Given the description of an element on the screen output the (x, y) to click on. 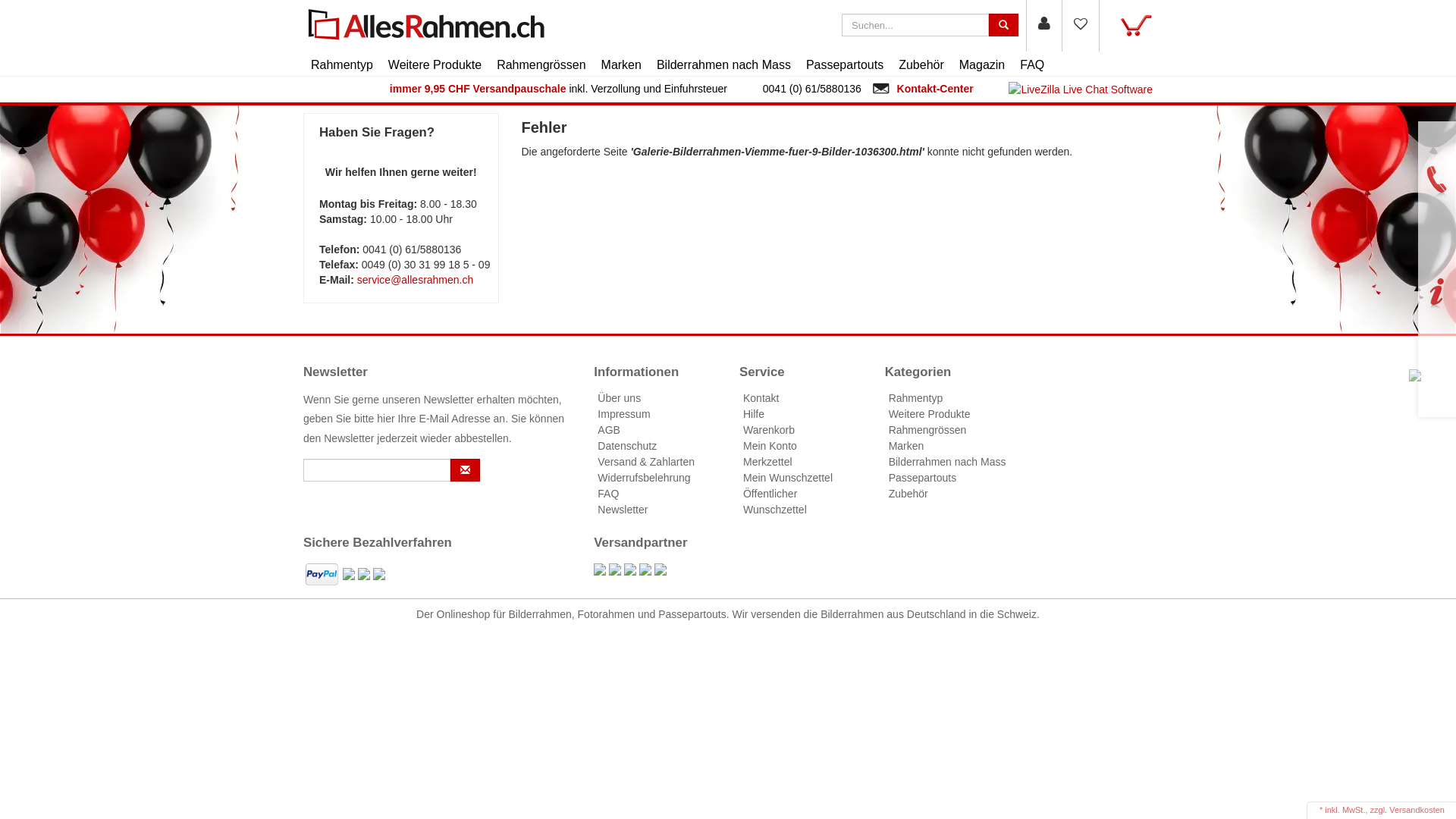
Suchen Element type: hover (1125, 26)
Datenschutz Element type: text (626, 445)
Impressum Element type: text (623, 413)
FAQ Element type: text (1031, 64)
Weitere Produkte Element type: text (434, 64)
Anmelden Element type: hover (1043, 25)
Hilfe Element type: text (753, 413)
service@allesrahmen.ch Element type: text (415, 279)
Mein Wunschzettel Element type: hover (1080, 25)
AGB Element type: text (608, 429)
Bilderrahmen nach Mass Element type: text (723, 64)
Magazin Element type: text (981, 64)
FAQ Element type: text (607, 493)
Kundenbewertungen auf Ekomi Element type: hover (1414, 374)
Marken Element type: text (621, 64)
Bilderrahmen nach Mass Element type: text (947, 461)
Versand & Zahlarten Element type: text (645, 461)
Passepartouts Element type: text (922, 477)
Weitere Produkte Element type: text (929, 413)
Mein Wunschzettel Element type: text (787, 477)
Mein Konto Element type: text (770, 445)
Versandpauschale Element type: text (519, 88)
Merkzettel Element type: text (767, 461)
Warenkorb Element type: text (768, 429)
Marken Element type: text (906, 445)
Kontakt-Center Element type: text (935, 88)
Newsletter Element type: text (622, 509)
* inkl. MwSt., zzgl. Versandkosten Element type: text (1381, 809)
Rahmentyp Element type: text (915, 397)
Widerrufsbelehrung Element type: text (643, 477)
Rahmentyp Element type: text (341, 64)
Kontakt Element type: text (760, 397)
Passepartouts Element type: text (844, 64)
